Given the description of an element on the screen output the (x, y) to click on. 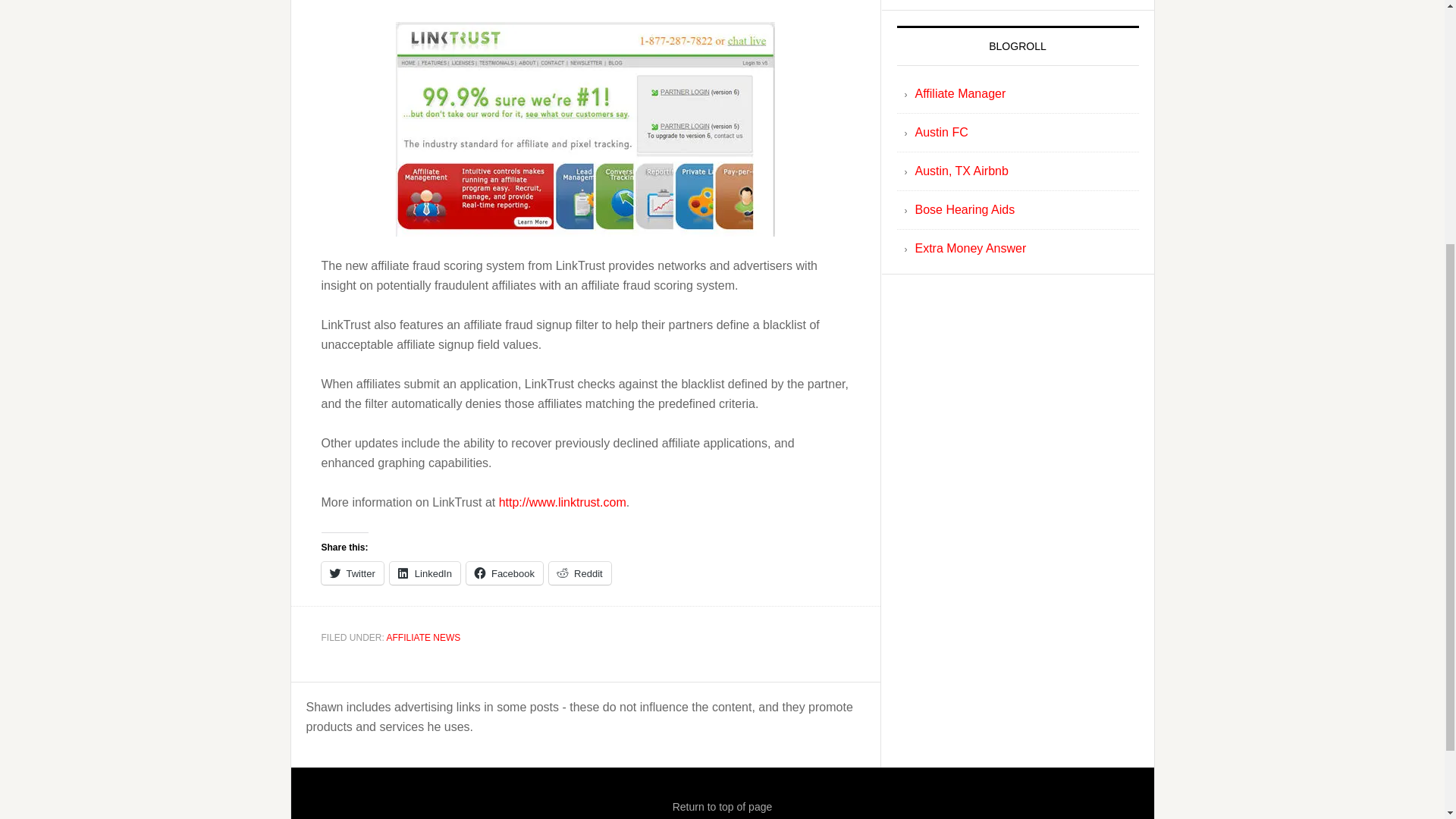
AFFILIATE NEWS (424, 637)
Click to share on Reddit (579, 572)
Click to share on Twitter (352, 572)
Reddit (579, 572)
Extra Money Answer (970, 247)
Austin FC (941, 132)
Click to share on Facebook (504, 572)
Facebook (504, 572)
LinkedIn (425, 572)
Click to share on LinkedIn (425, 572)
LinkTrust (585, 128)
Return to top of page (722, 806)
Twitter (352, 572)
Affiliate Manager (960, 92)
Austin, TX Airbnb (960, 170)
